Given the description of an element on the screen output the (x, y) to click on. 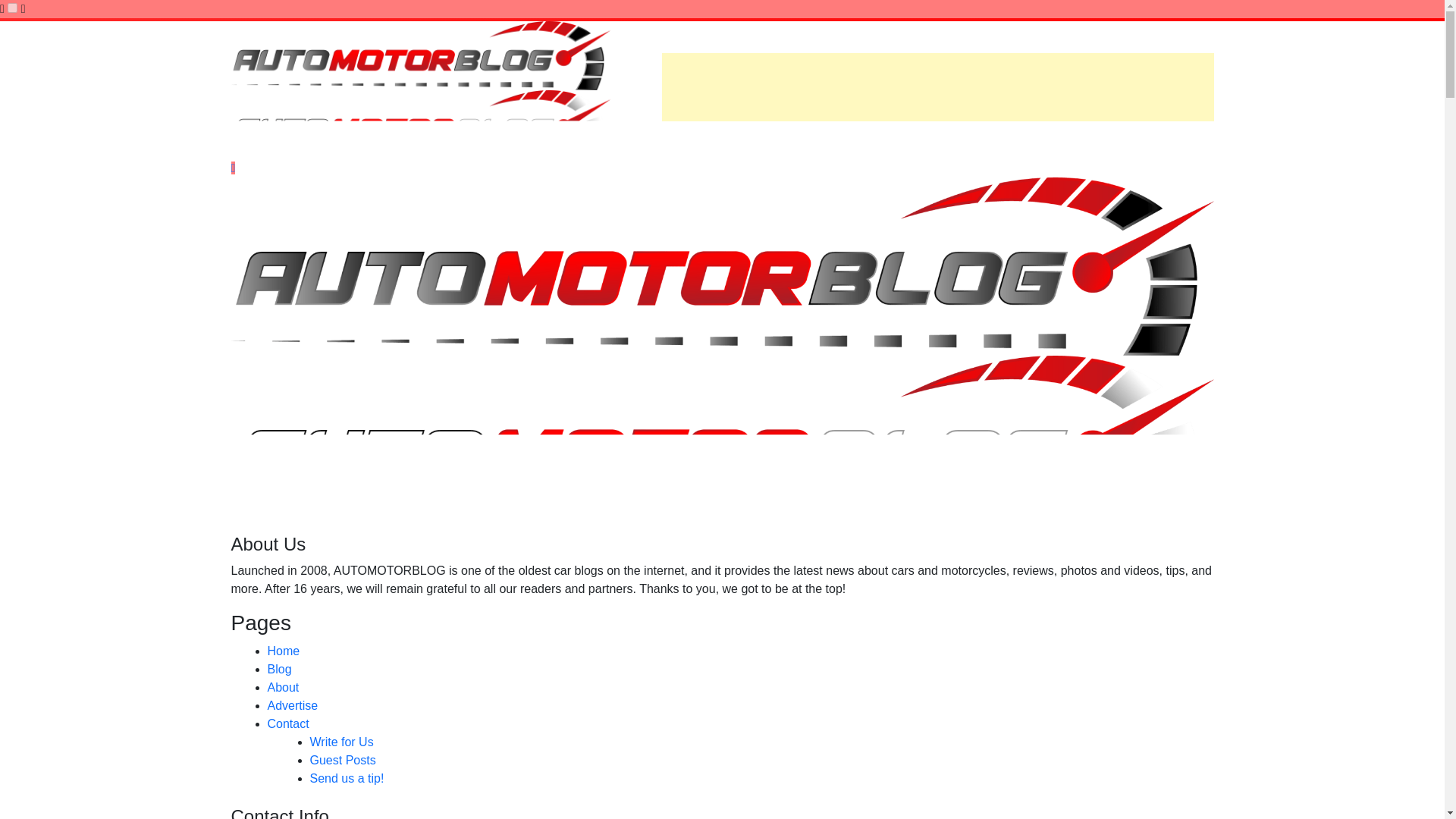
Write for Us (340, 741)
About (282, 686)
Advertise (291, 705)
on (12, 8)
Home (282, 650)
Guest Posts (341, 759)
Blog (278, 668)
Send us a tip! (346, 778)
Contact (287, 723)
